Given the description of an element on the screen output the (x, y) to click on. 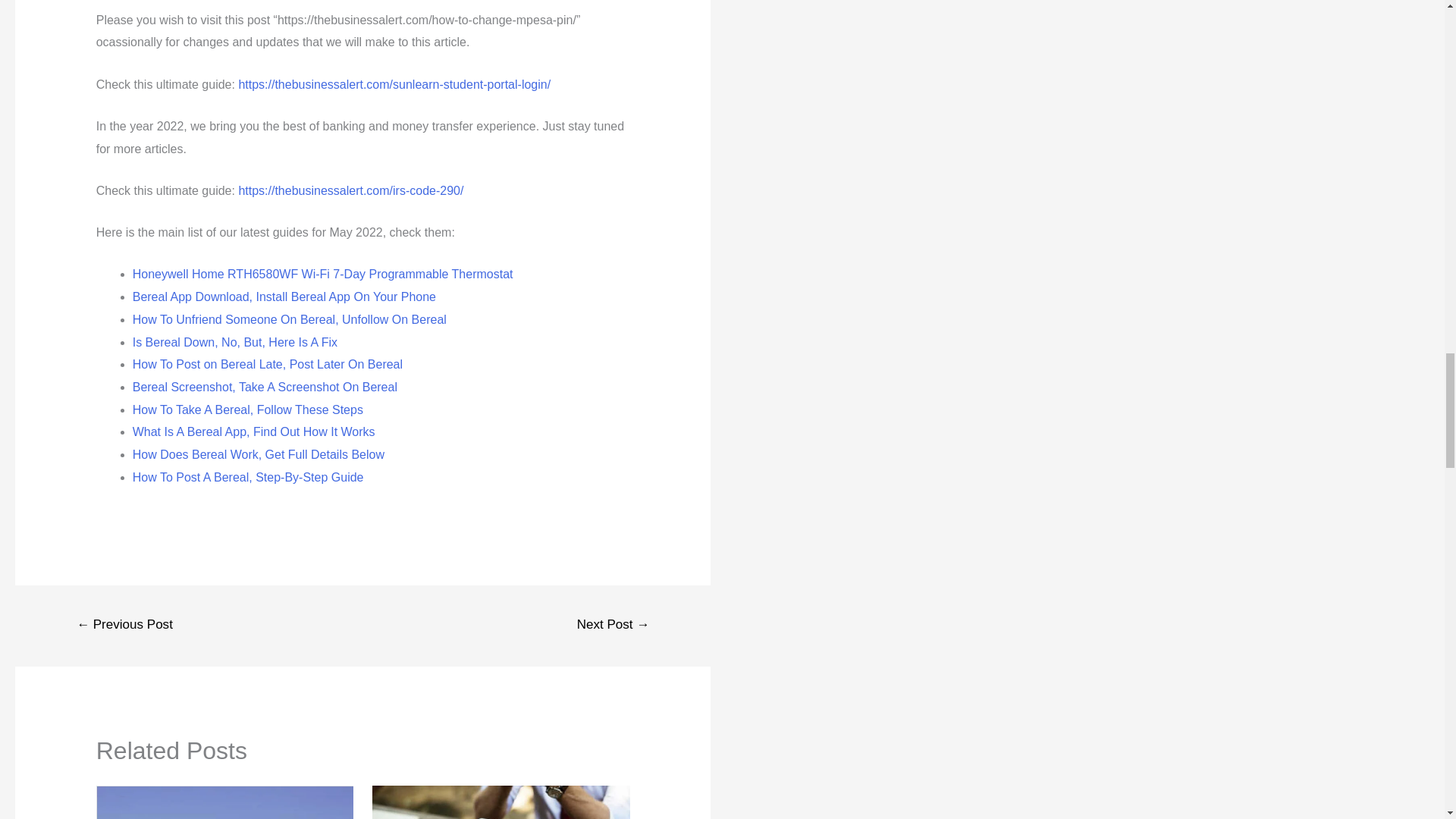
How To Unfriend Someone On Bereal, Unfollow On Bereal (289, 318)
Honeywell Home RTH6580WF Wi-Fi 7-Day Programmable Thermostat (322, 273)
How To Post on Bereal Late, Post Later On Bereal (267, 364)
How To Take A Bereal, Follow These Steps (247, 409)
How To Post A Bereal, Step-By-Step Guide (248, 477)
Bereal Screenshot, Take A Screenshot On Bereal (264, 386)
Is Bereal Down, No, But, Here Is A Fix (234, 341)
What Is A Bereal App, Find Out How It Works (253, 431)
Bereal App Download, Install Bereal App On Your Phone (283, 296)
How Does Bereal Work, Get Full Details Below (258, 454)
